Given the description of an element on the screen output the (x, y) to click on. 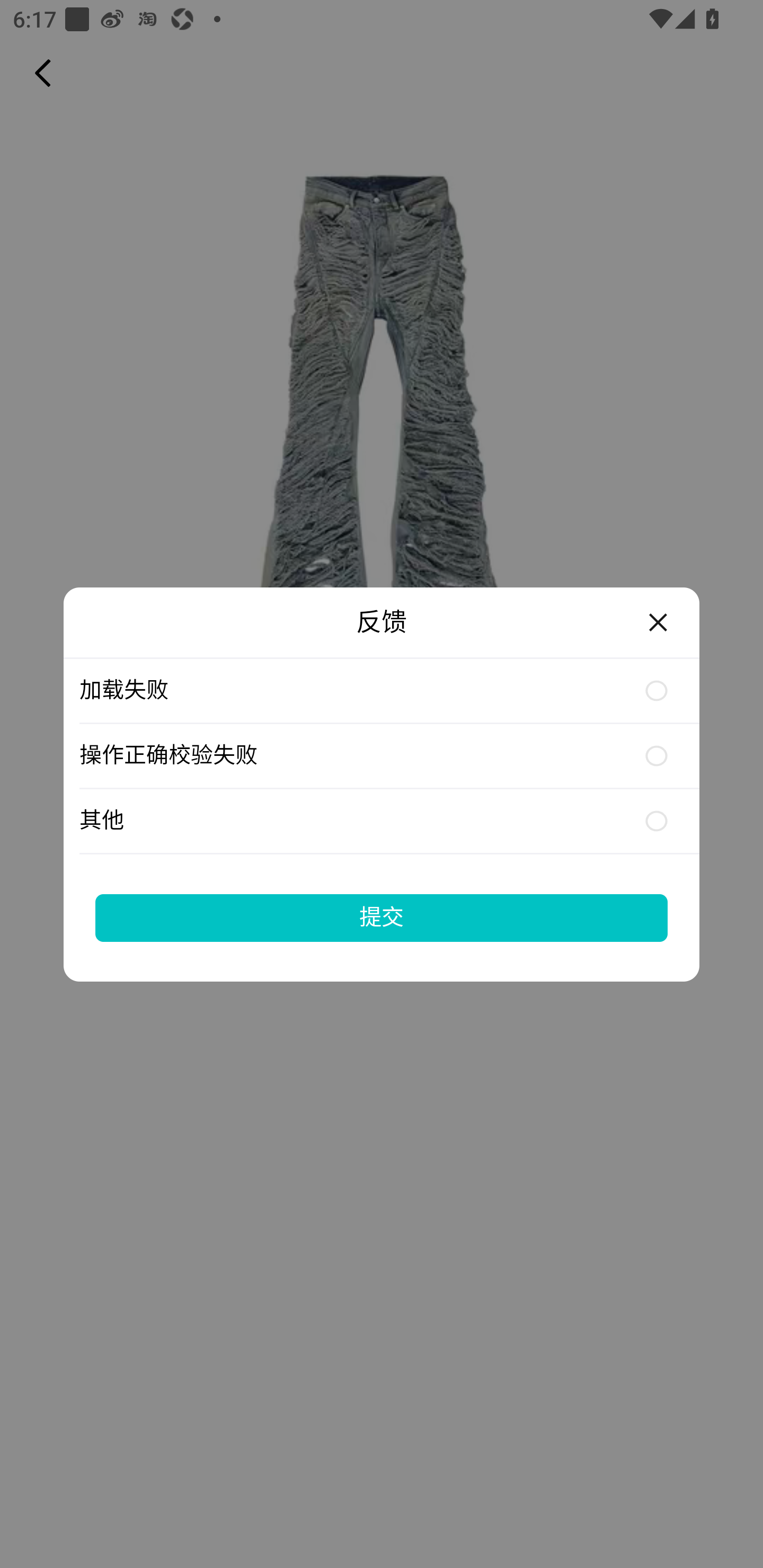
提交 (381, 917)
